Given the description of an element on the screen output the (x, y) to click on. 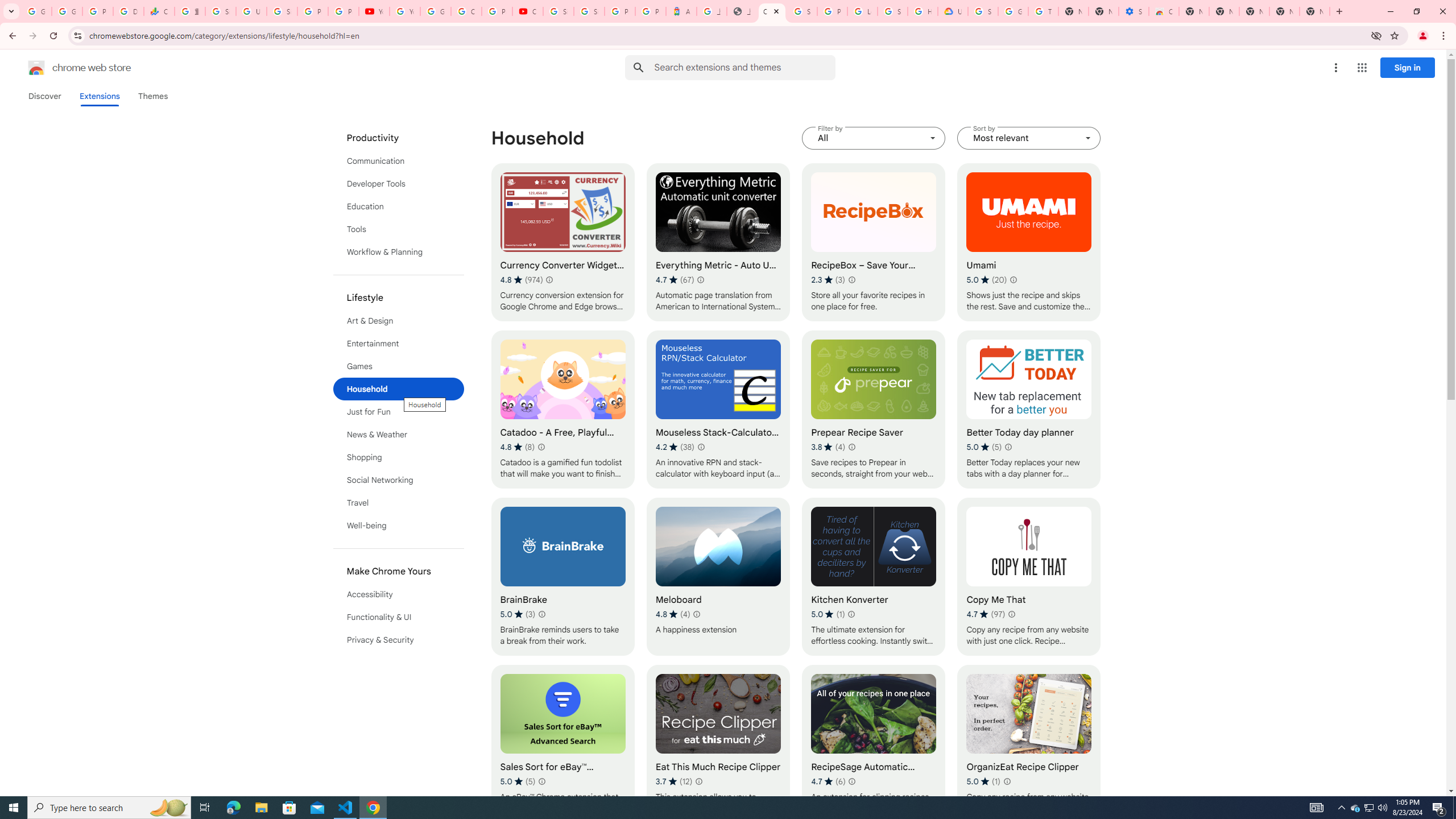
Average rating 3.8 out of 5 stars. 4 ratings. (827, 446)
Average rating 3.7 out of 5 stars. 12 ratings. (674, 781)
Sign in - Google Accounts (892, 11)
Themes (152, 95)
Settings - Accessibility (1133, 11)
Average rating 4.2 out of 5 stars. 38 ratings. (674, 446)
Workflow & Planning (398, 251)
Average rating 4.7 out of 5 stars. 97 ratings. (986, 613)
Art & Design (398, 320)
New Tab (1314, 11)
